Given the description of an element on the screen output the (x, y) to click on. 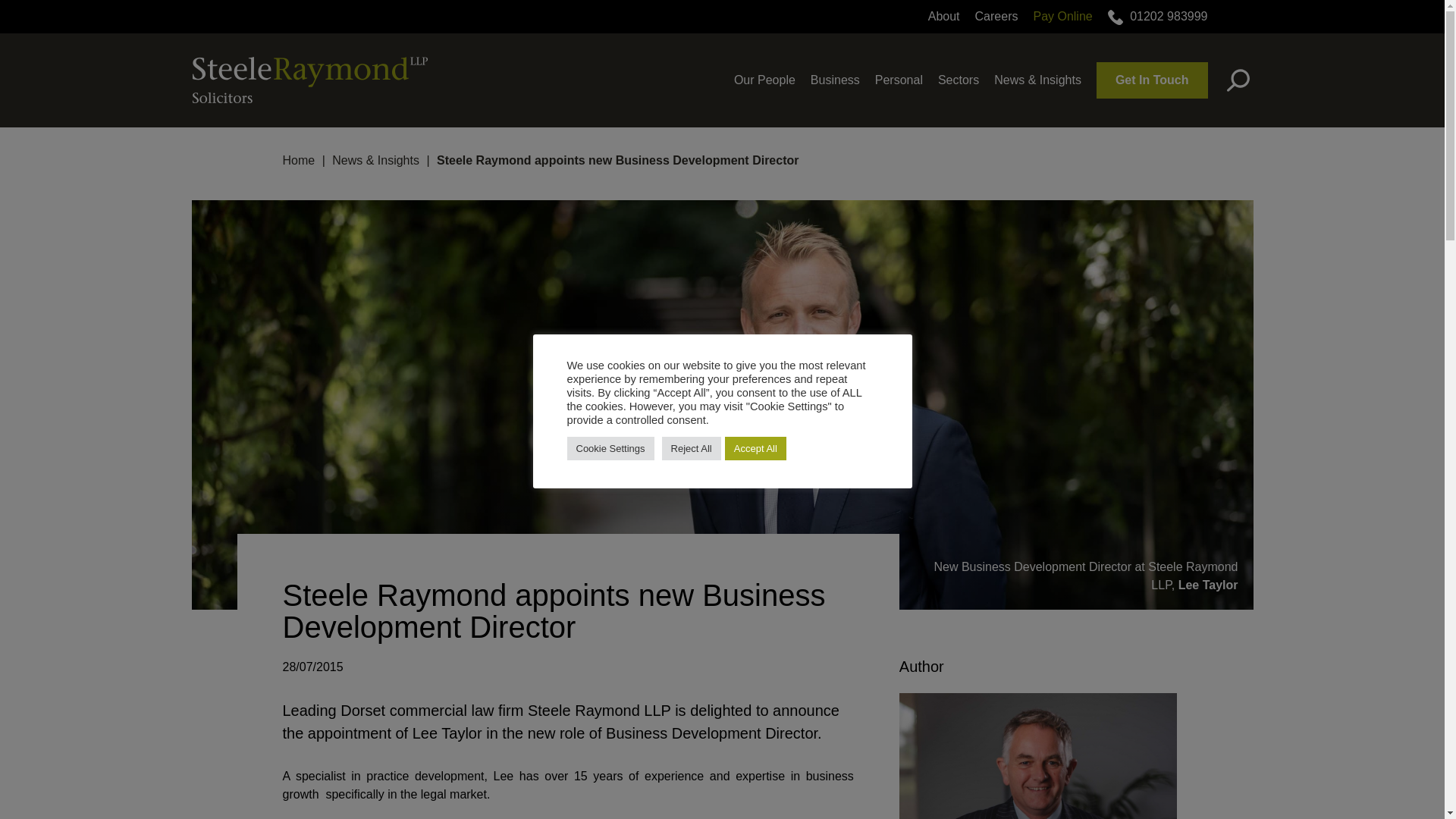
Pay Online (1062, 15)
01202 983999 (1168, 15)
Sectors (957, 79)
Careers (996, 15)
Business (835, 79)
Get In Touch (1152, 80)
About (943, 15)
Personal (899, 79)
Our People (763, 79)
